Given the description of an element on the screen output the (x, y) to click on. 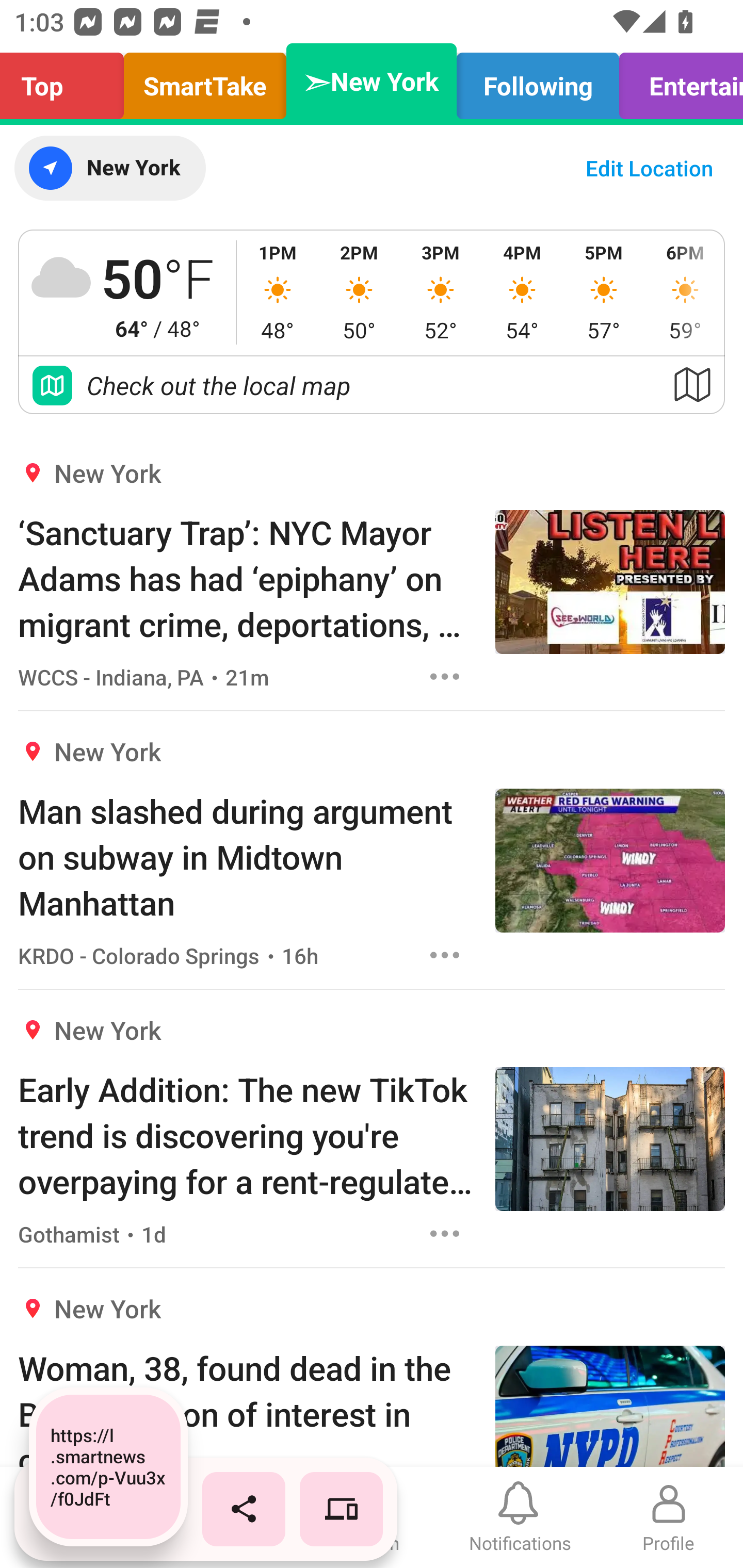
Top (67, 81)
SmartTake (204, 81)
➣New York (371, 81)
Following (537, 81)
New York (109, 168)
Edit Location (648, 168)
1PM 48° (277, 291)
2PM 50° (358, 291)
3PM 52° (440, 291)
4PM 54° (522, 291)
5PM 57° (603, 291)
6PM 59° (684, 291)
Check out the local map (371, 384)
Options (444, 676)
Options (444, 954)
Options (444, 1233)
Notifications (519, 1517)
Profile (668, 1517)
